Given the description of an element on the screen output the (x, y) to click on. 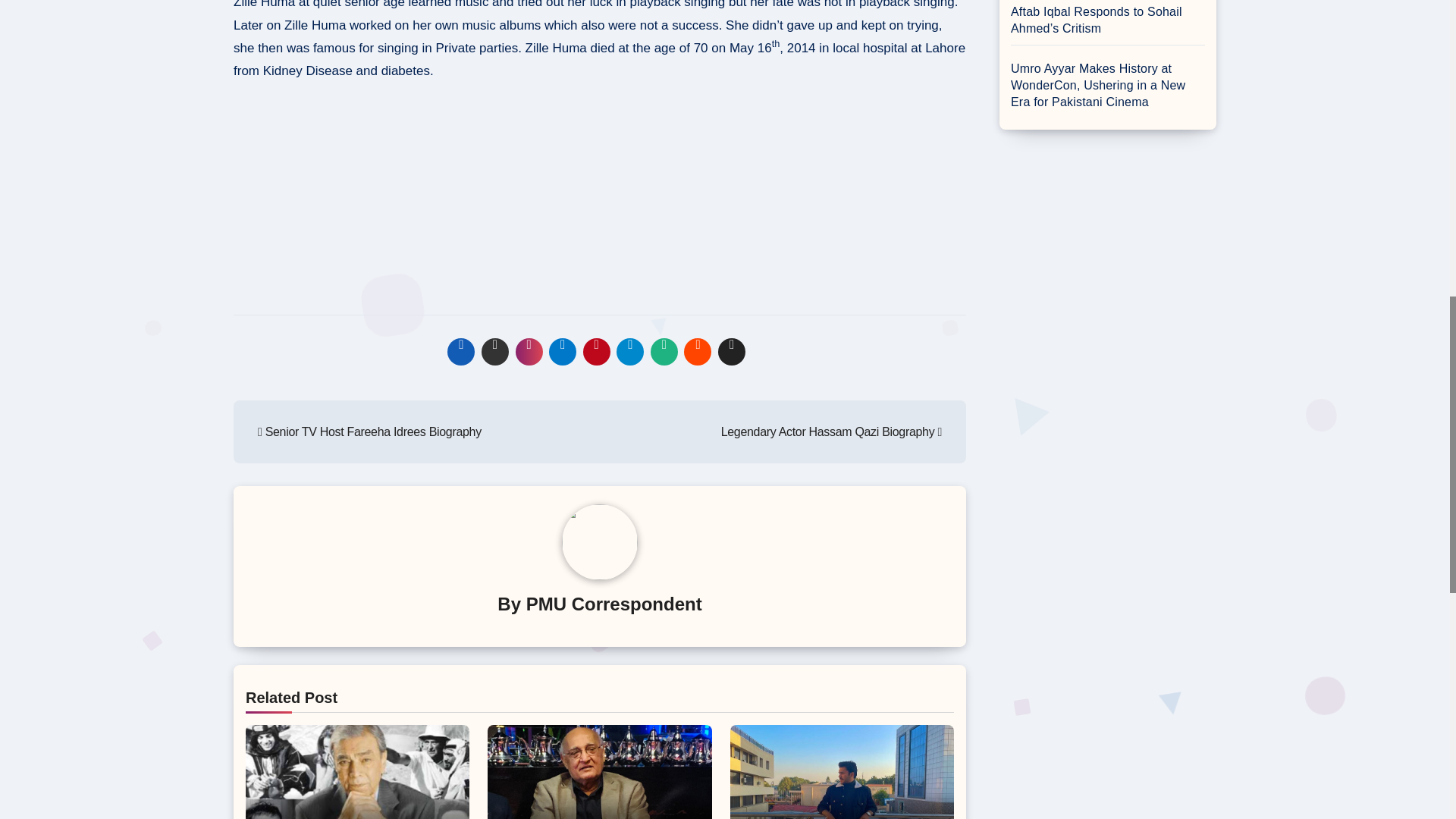
PMU Correspondent (613, 603)
Legendary Actor Hassam Qazi Biography (831, 431)
Senior TV Host Fareeha Idrees Biography (369, 431)
